Given the description of an element on the screen output the (x, y) to click on. 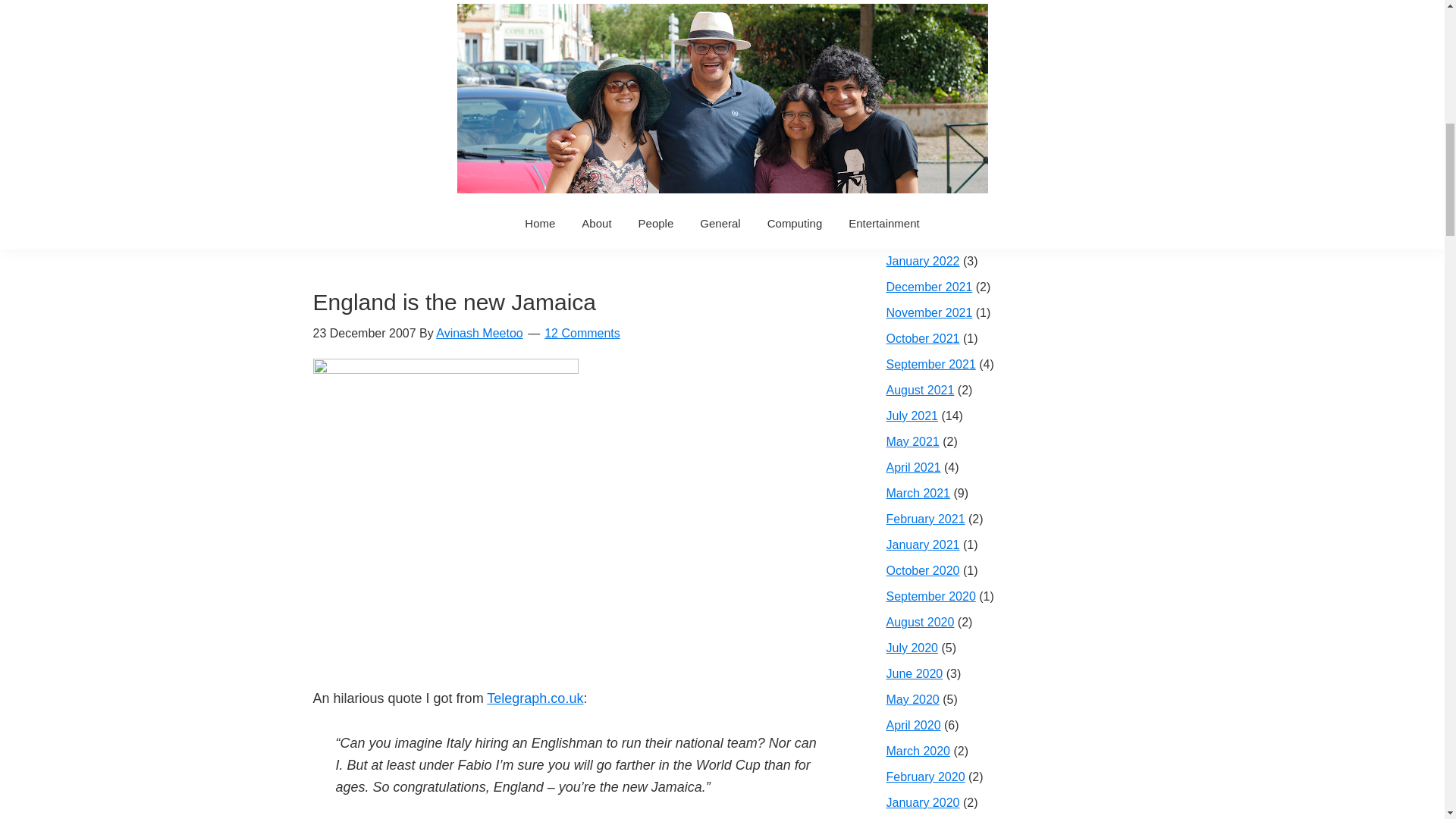
my feed (414, 130)
